Given the description of an element on the screen output the (x, y) to click on. 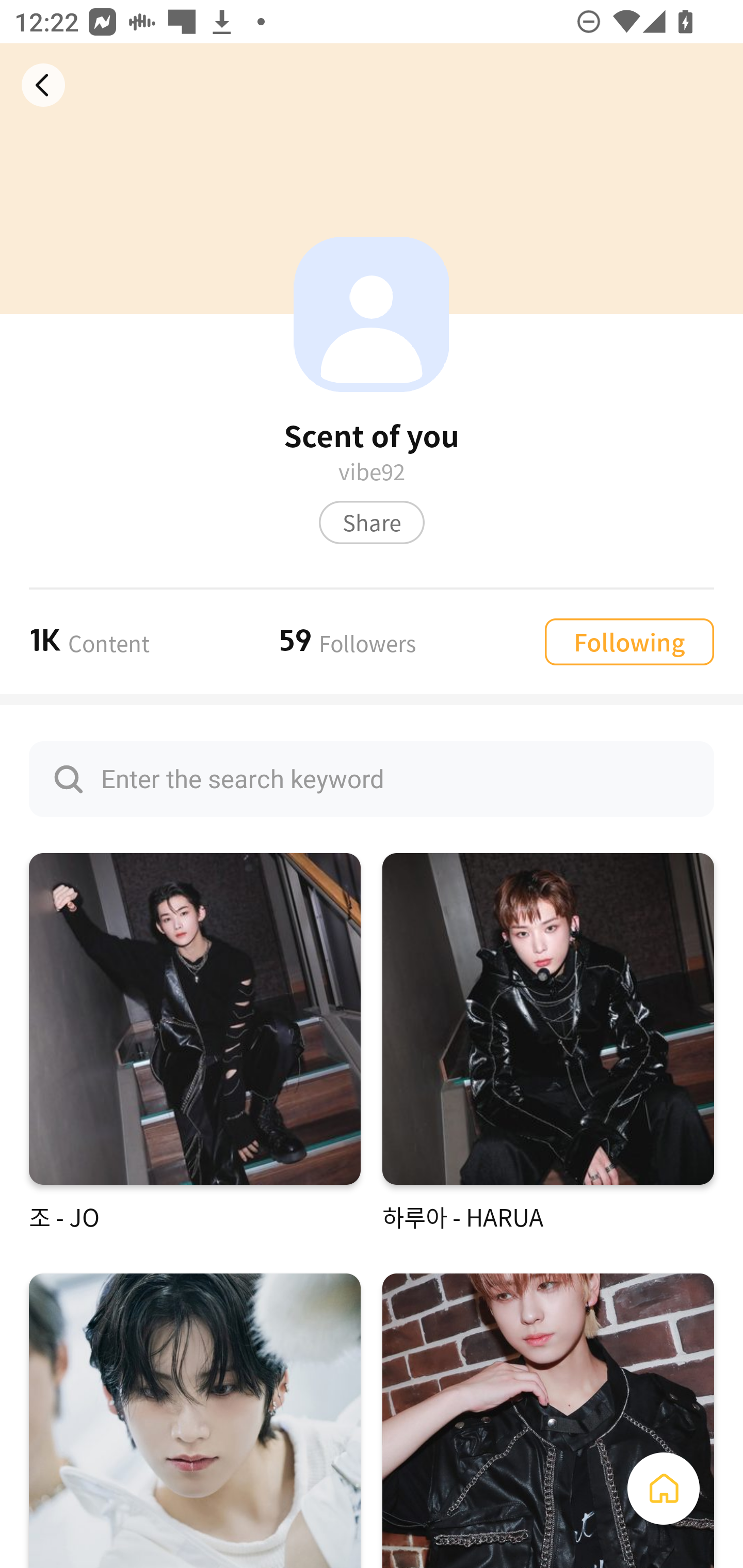
Share (371, 522)
Following (629, 640)
Enter the search keyword (371, 778)
조  -  JO (194, 1043)
하루아  -  HARUA (548, 1043)
